Given the description of an element on the screen output the (x, y) to click on. 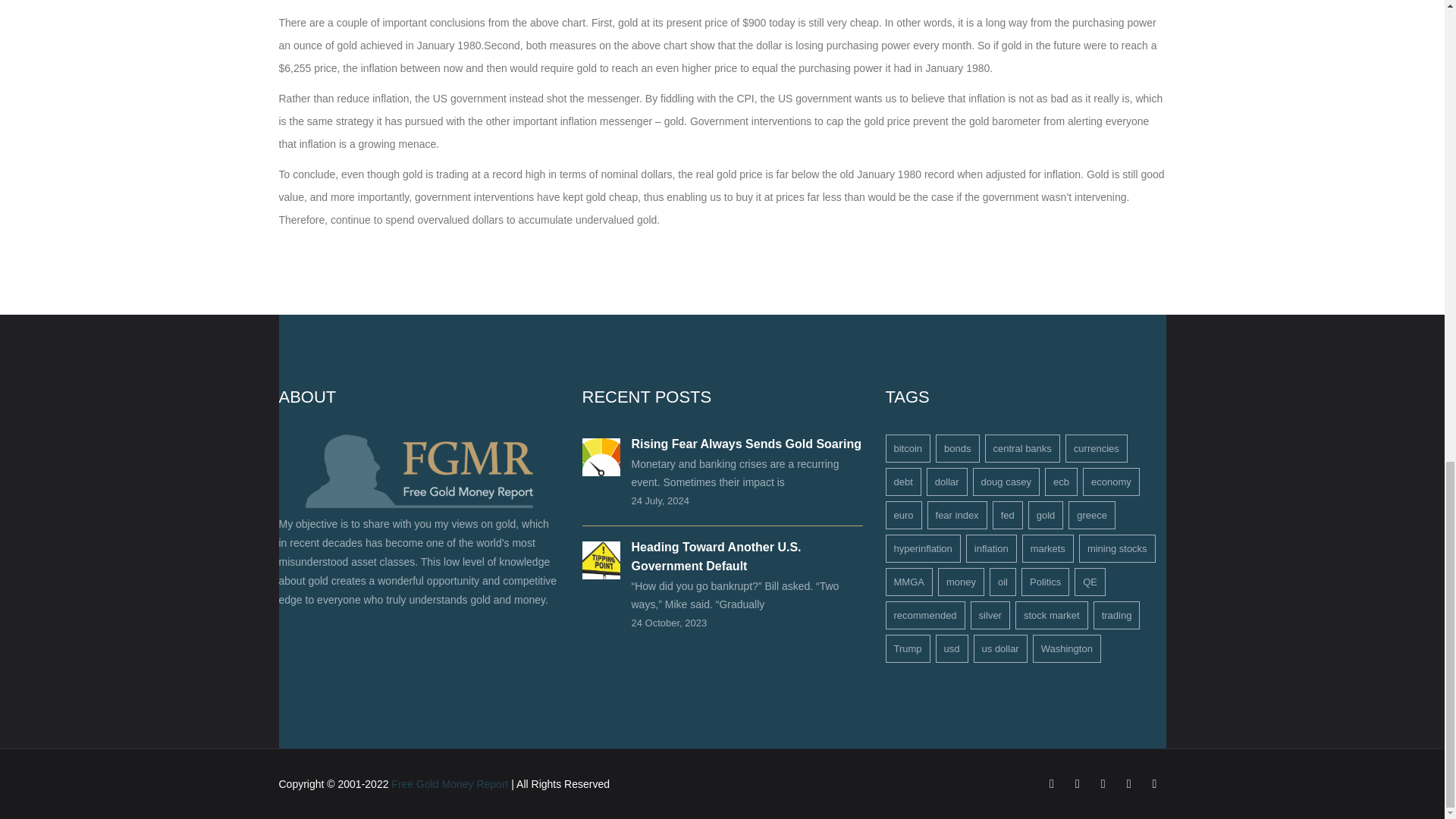
dollar (947, 481)
greece (1091, 515)
doug casey (1006, 481)
hyperinflation (922, 548)
gold (1045, 515)
inflation (991, 548)
Heading Toward Another U.S. Government Default (715, 556)
ecb (1061, 481)
bitcoin (908, 448)
oil (1003, 582)
